Given the description of an element on the screen output the (x, y) to click on. 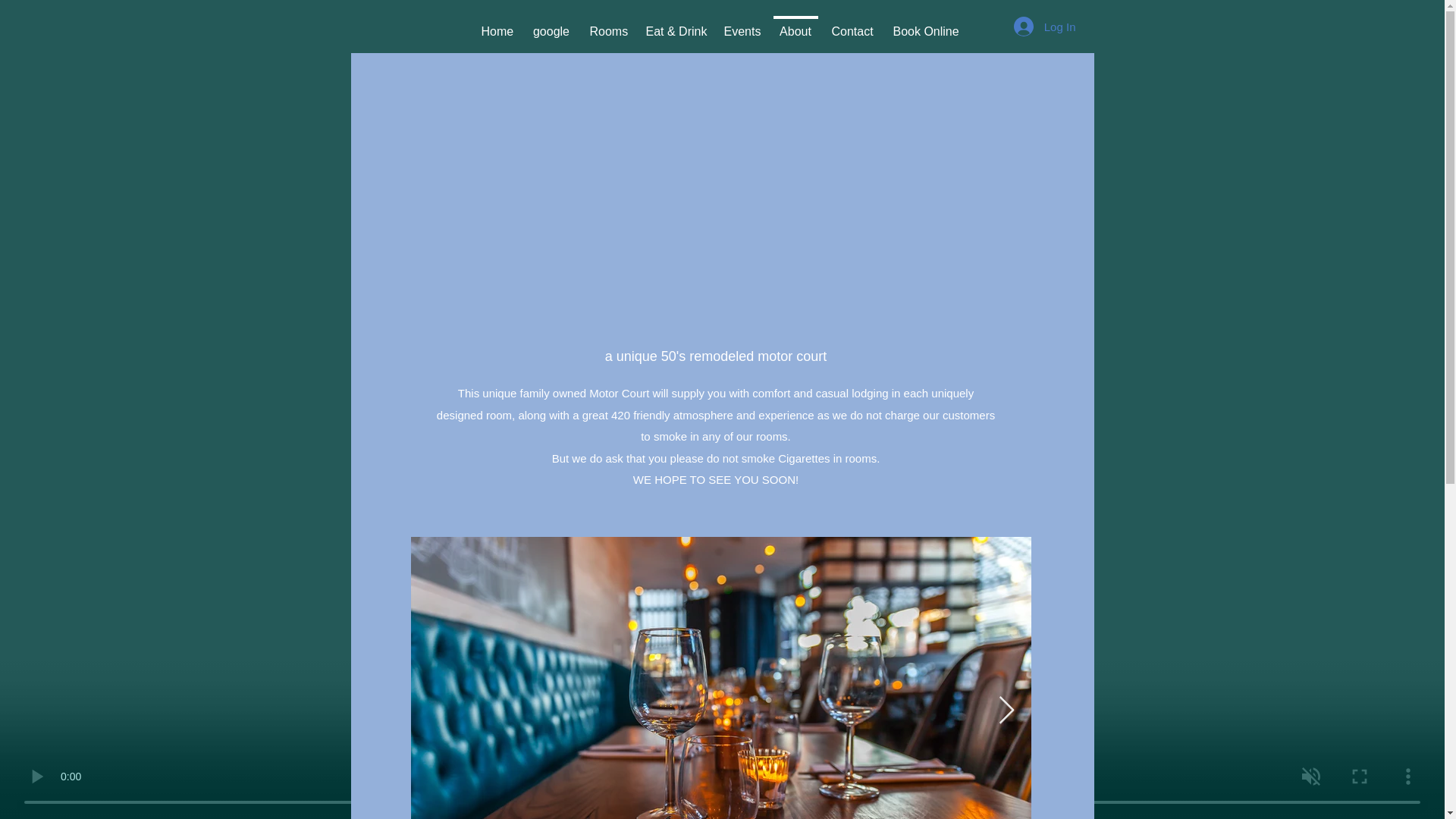
Rooms (606, 24)
About (794, 24)
Log In (1044, 26)
Contact (852, 24)
Book Online (925, 24)
google (550, 24)
Events (742, 24)
Home (496, 24)
